Given the description of an element on the screen output the (x, y) to click on. 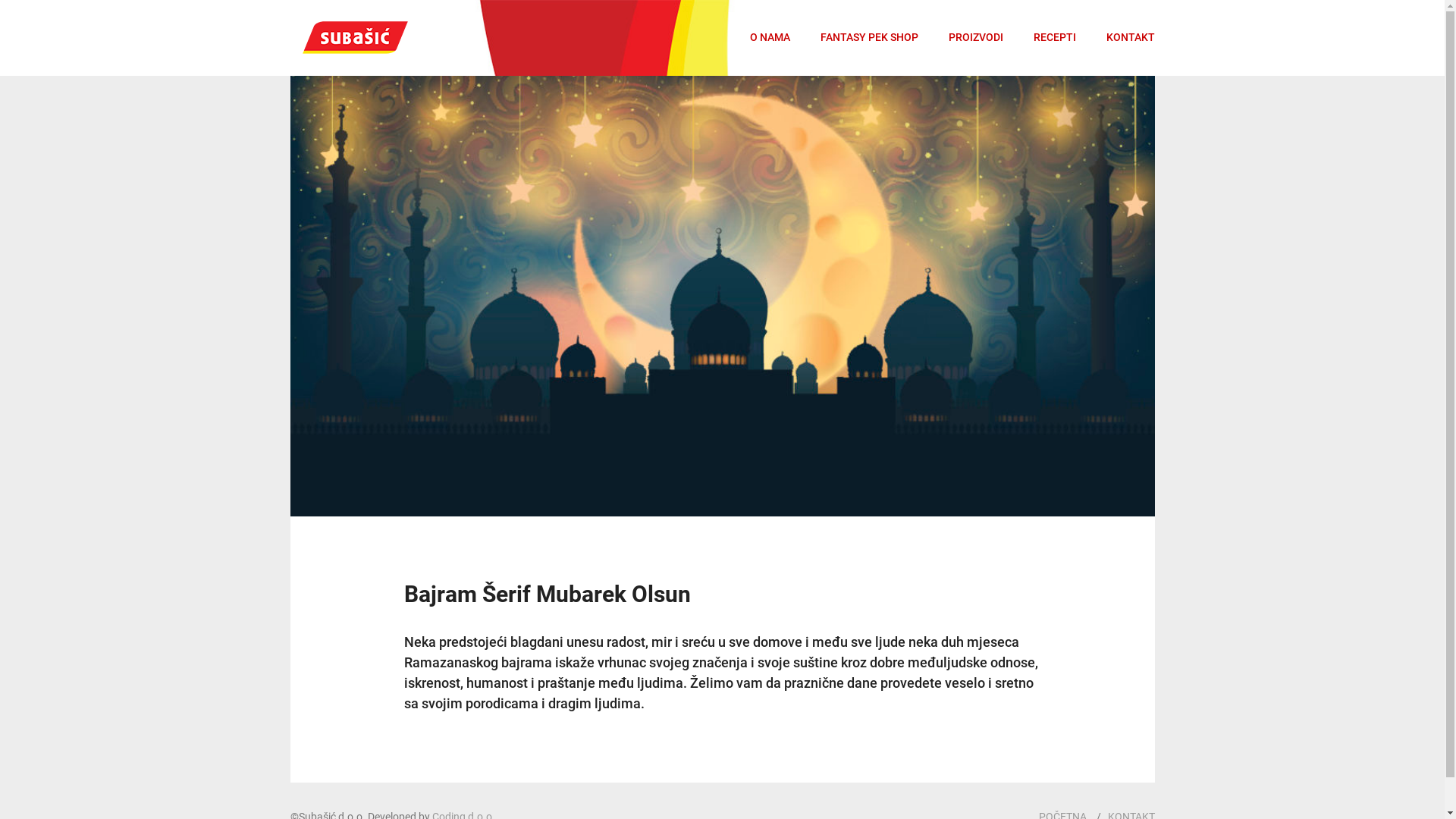
PROIZVODI Element type: text (974, 37)
FANTASY PEK SHOP Element type: text (869, 37)
KONTAKT Element type: text (1129, 37)
O NAMA Element type: text (769, 37)
RECEPTI Element type: text (1053, 37)
